Given the description of an element on the screen output the (x, y) to click on. 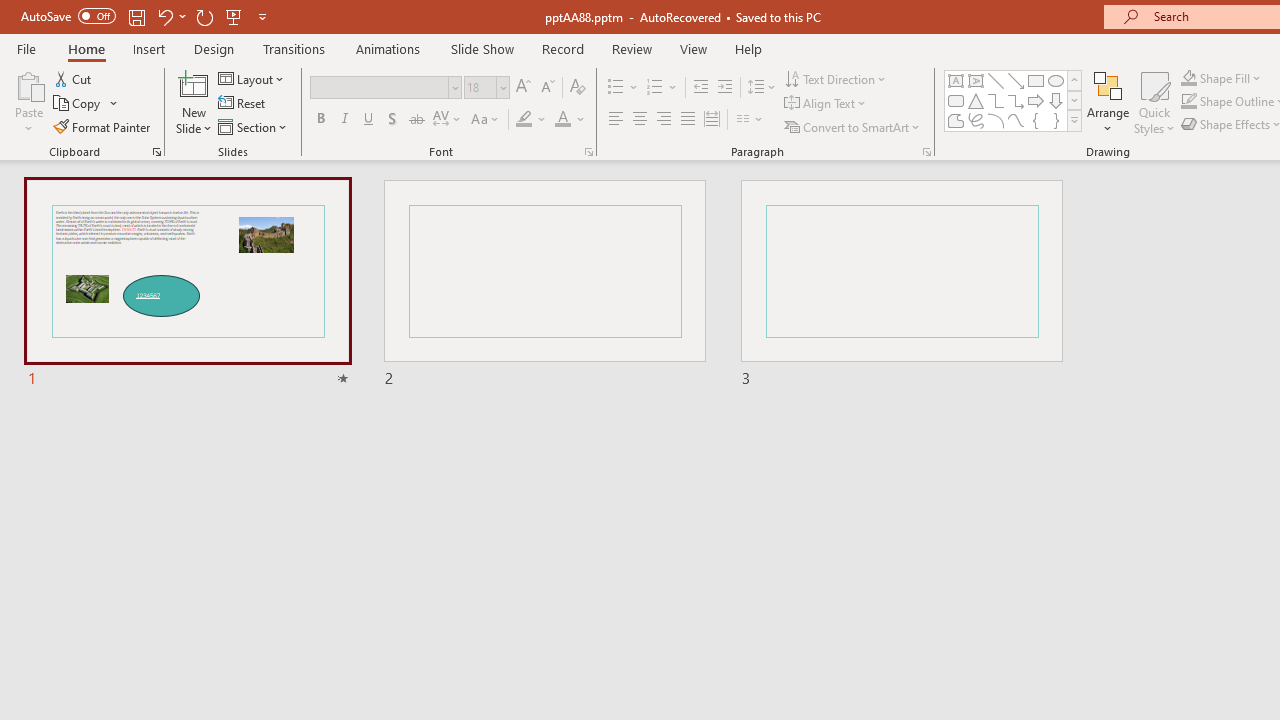
Shape Fill (1221, 78)
File Tab (26, 48)
Underline (369, 119)
Font (385, 87)
Copy (85, 103)
Right Brace (1055, 120)
Text Highlight Color Yellow (524, 119)
Row up (1074, 79)
Font Size (486, 87)
Align Text (826, 103)
Rectangle: Rounded Corners (955, 100)
New Slide (193, 84)
Font (379, 87)
